Given the description of an element on the screen output the (x, y) to click on. 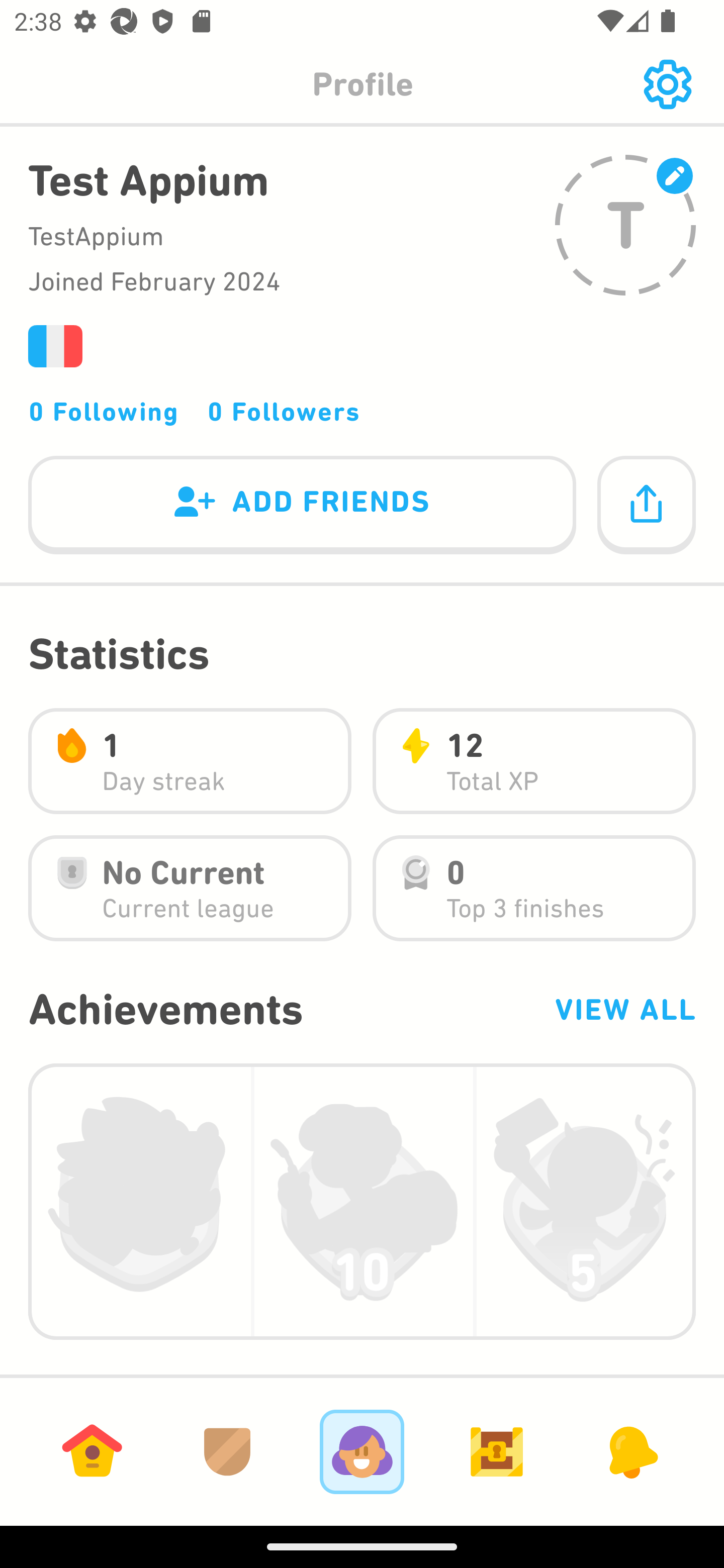
Settings (667, 84)
0 Following (103, 411)
0 Followers (283, 411)
ADD FRIENDS (302, 505)
1 Day streak (189, 760)
VIEW ALL (624, 1009)
Learn Tab (91, 1451)
Leagues Tab (227, 1451)
Profile Tab (361, 1451)
Goals Tab (496, 1451)
News Tab (631, 1451)
